Given the description of an element on the screen output the (x, y) to click on. 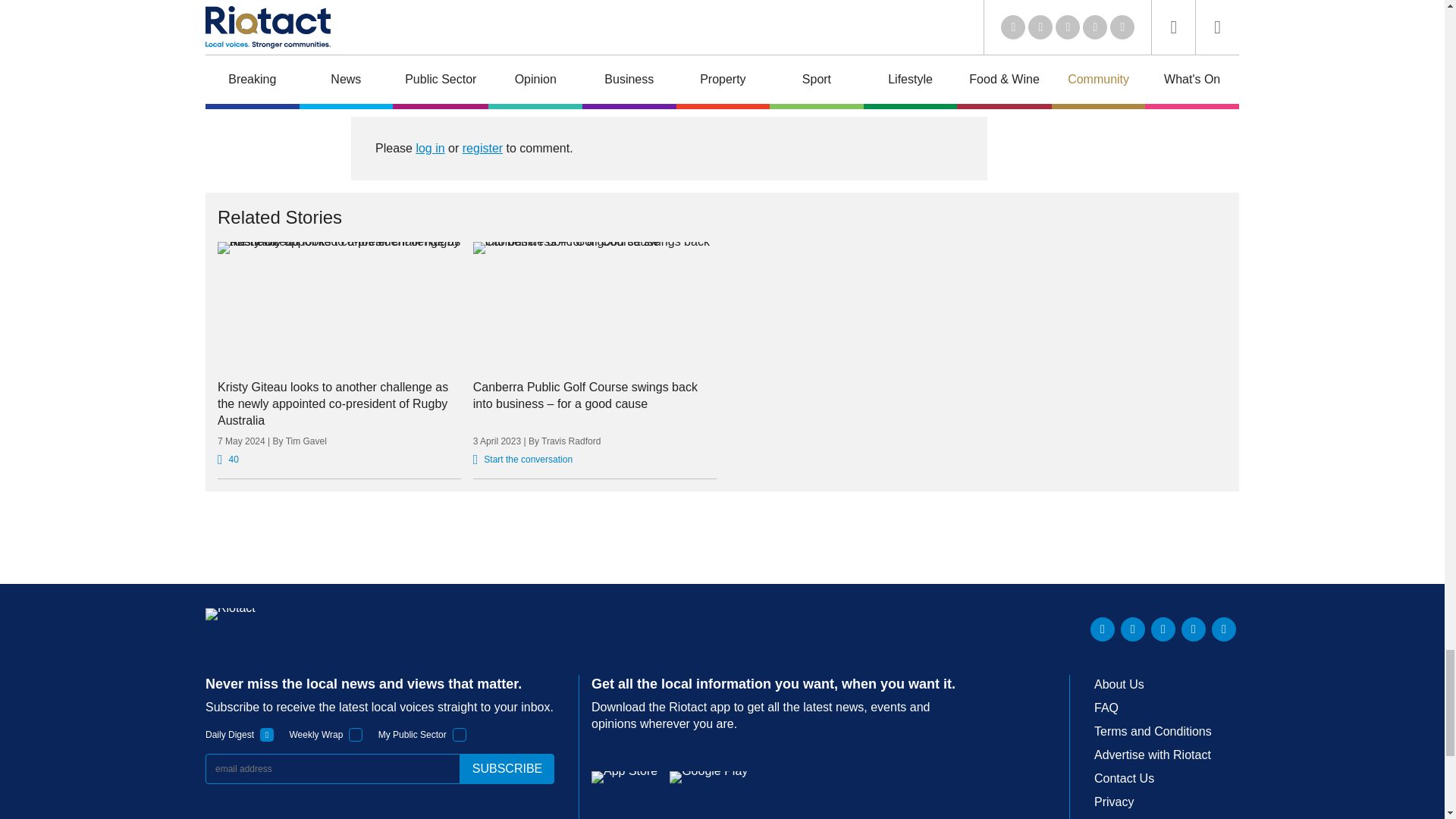
subscribe (507, 768)
1 (458, 735)
1 (266, 735)
LinkedIn (1102, 629)
Twitter (1132, 629)
1 (355, 735)
